Given the description of an element on the screen output the (x, y) to click on. 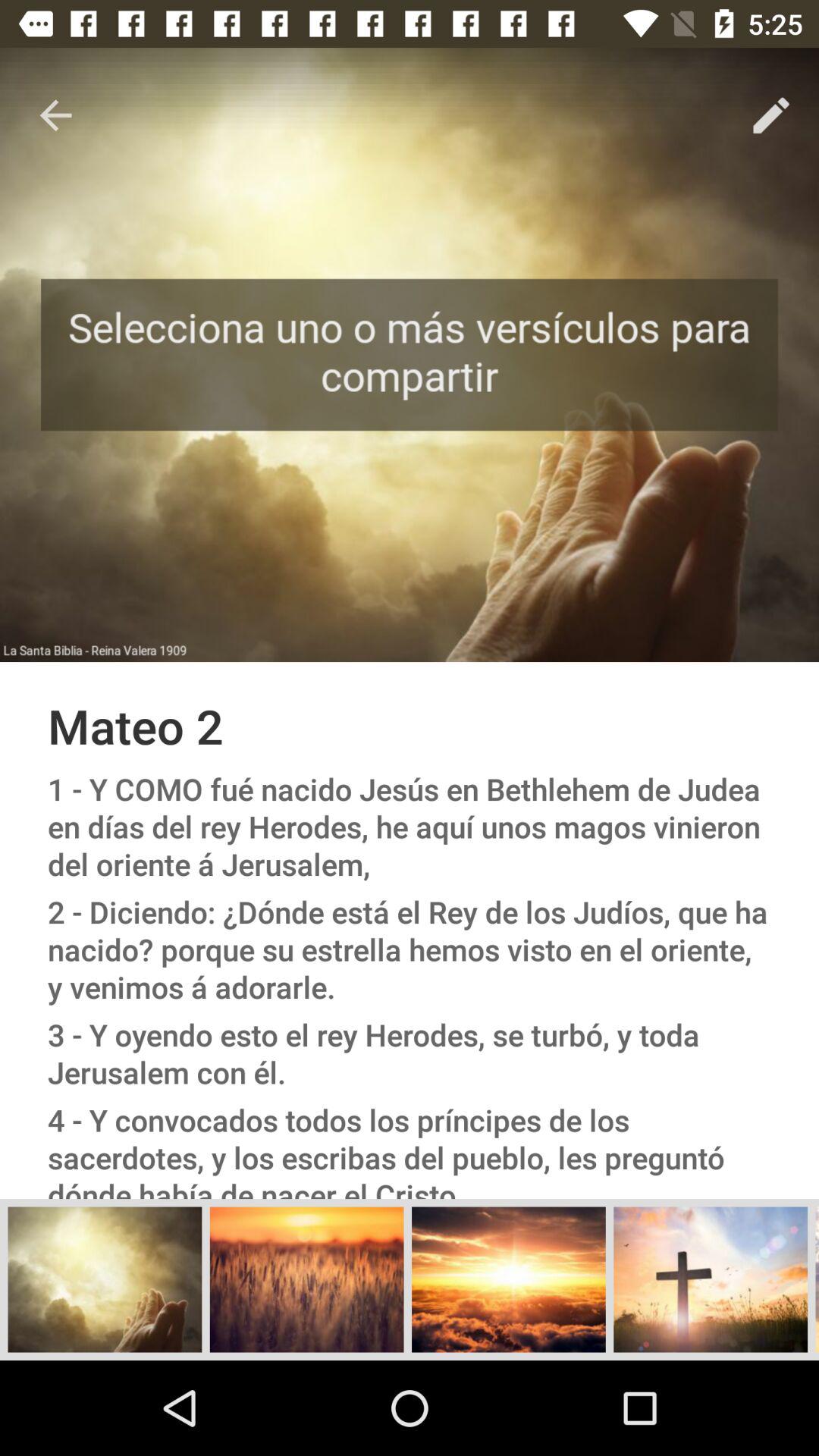
click icon at the top left corner (55, 115)
